Given the description of an element on the screen output the (x, y) to click on. 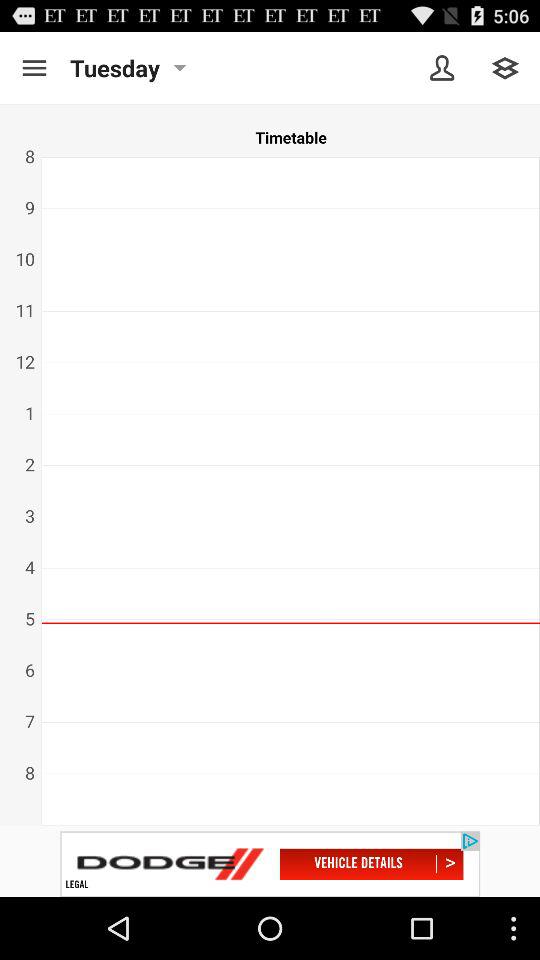
menu (34, 68)
